Given the description of an element on the screen output the (x, y) to click on. 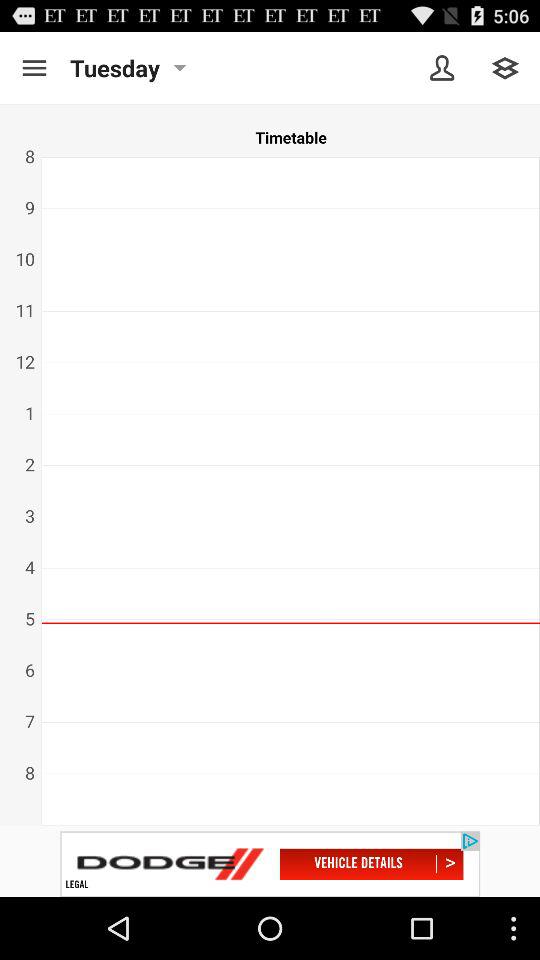
menu (34, 68)
